Given the description of an element on the screen output the (x, y) to click on. 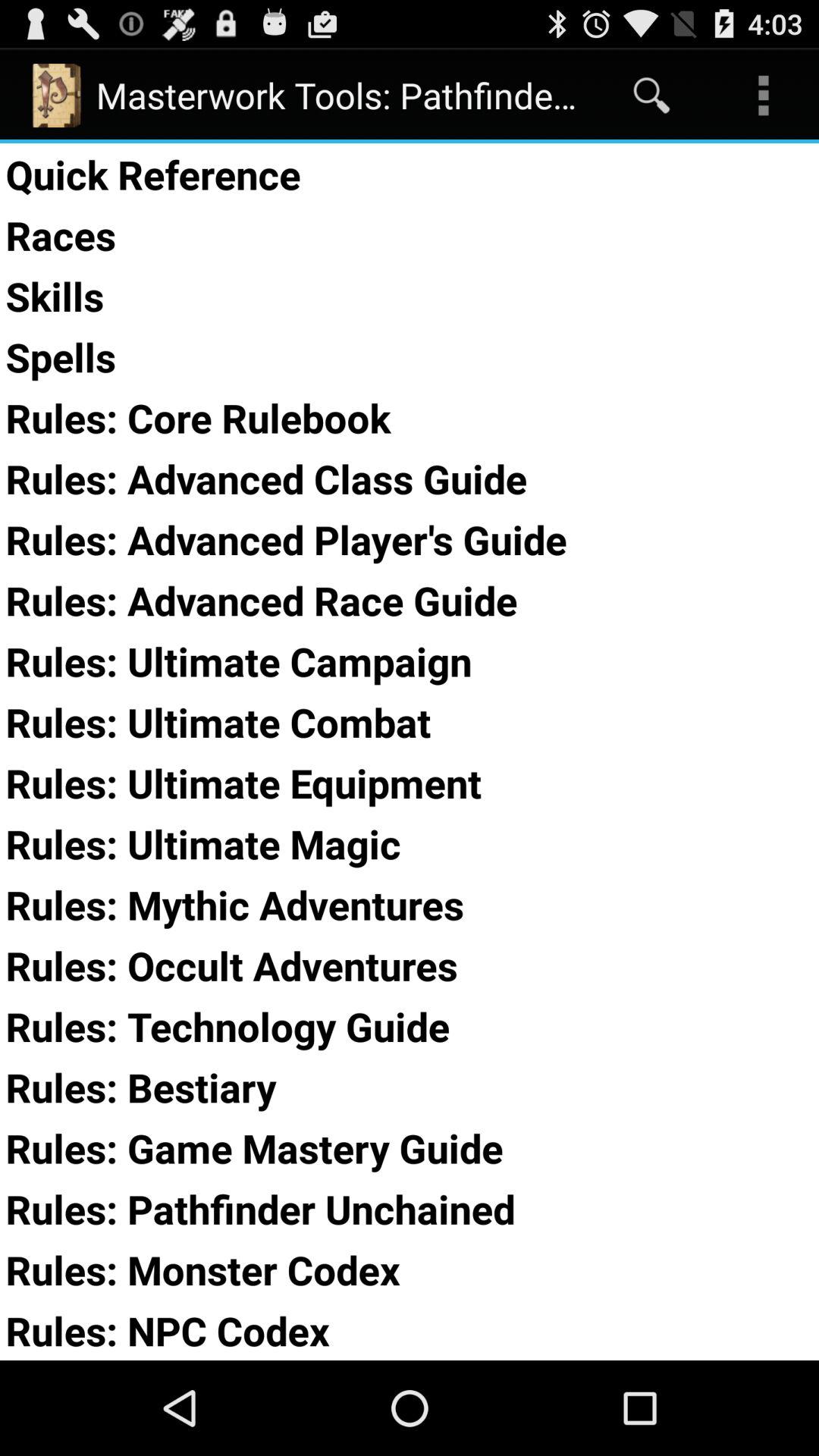
click on top left corner image (55, 95)
